Given the description of an element on the screen output the (x, y) to click on. 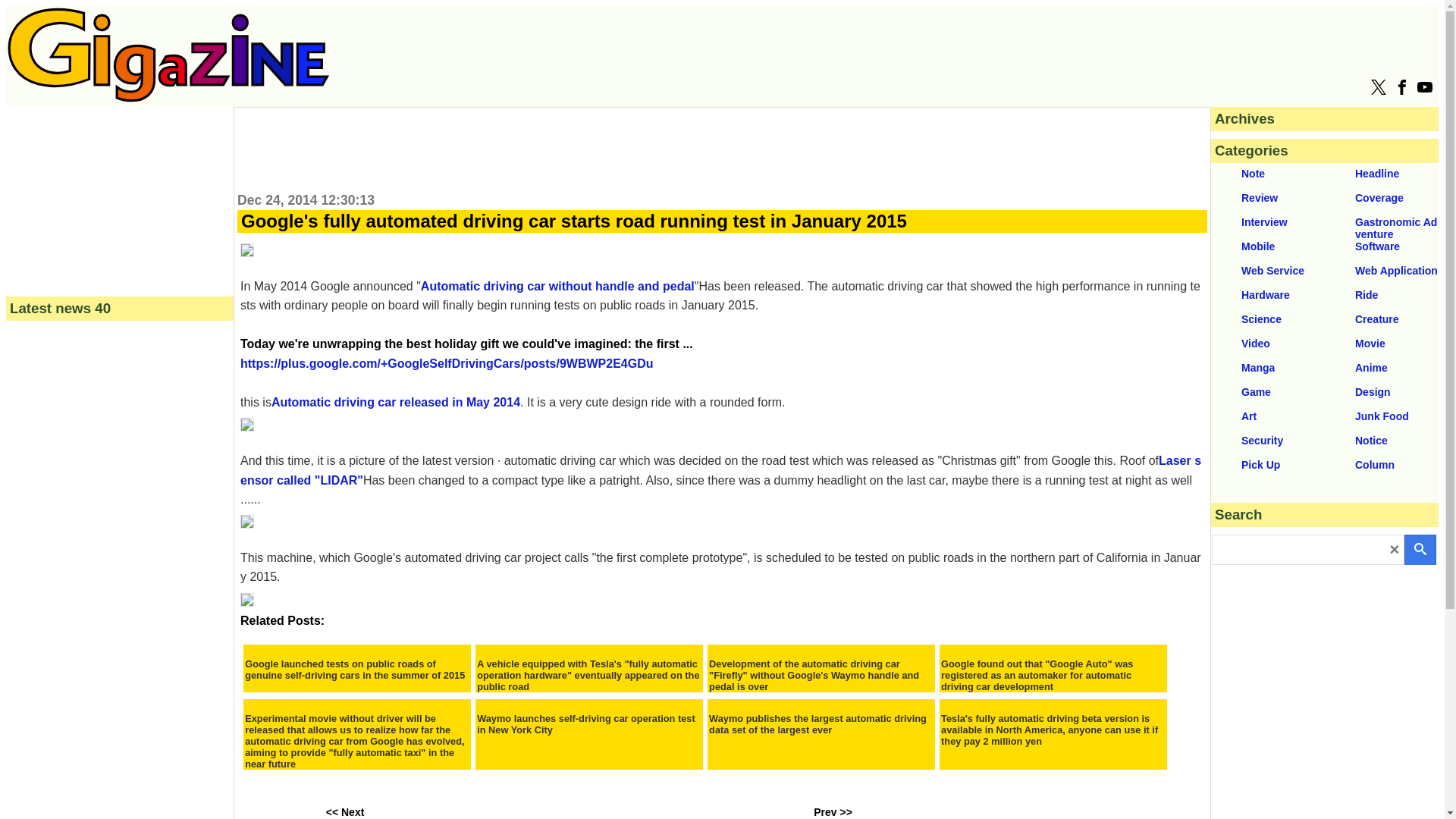
GIGAZINE (168, 54)
Automatic driving car released in May 2014 (394, 401)
GIGAZINE (168, 97)
Laser sensor called "LIDAR" (720, 470)
Automatic driving car without handle and pedal (557, 286)
Note (1267, 175)
